Given the description of an element on the screen output the (x, y) to click on. 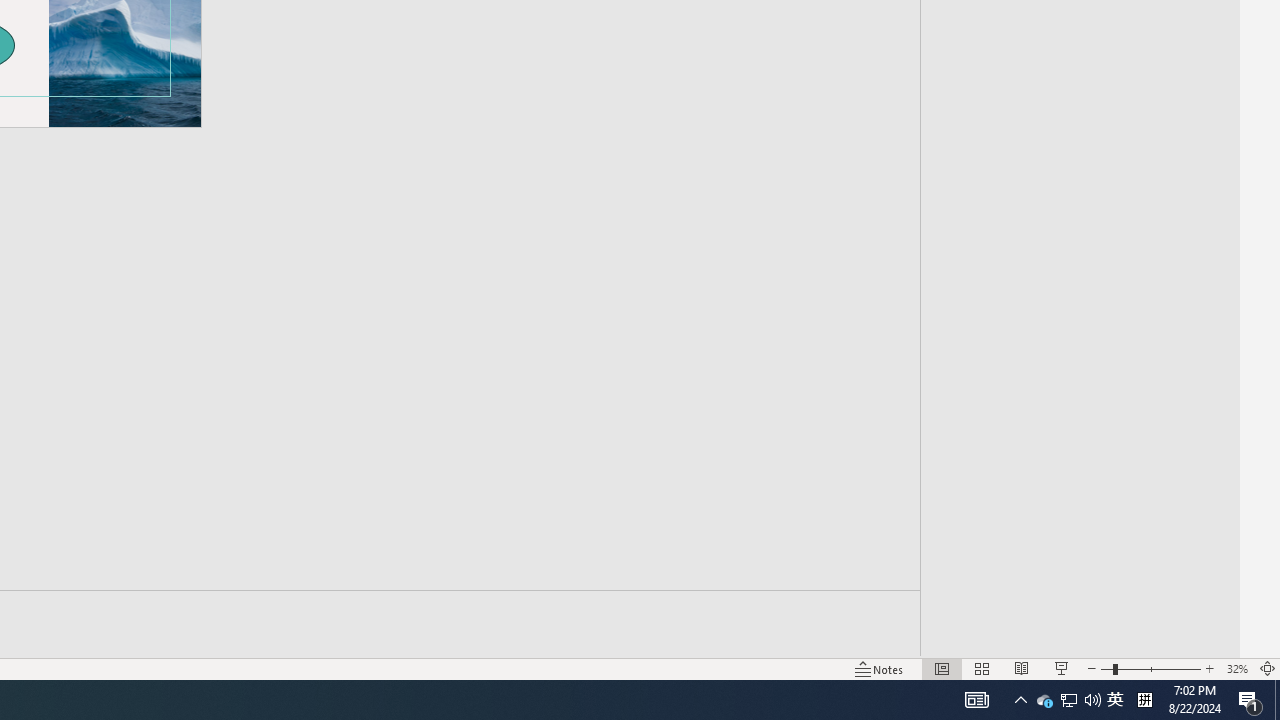
Zoom 32% (1236, 668)
